Given the description of an element on the screen output the (x, y) to click on. 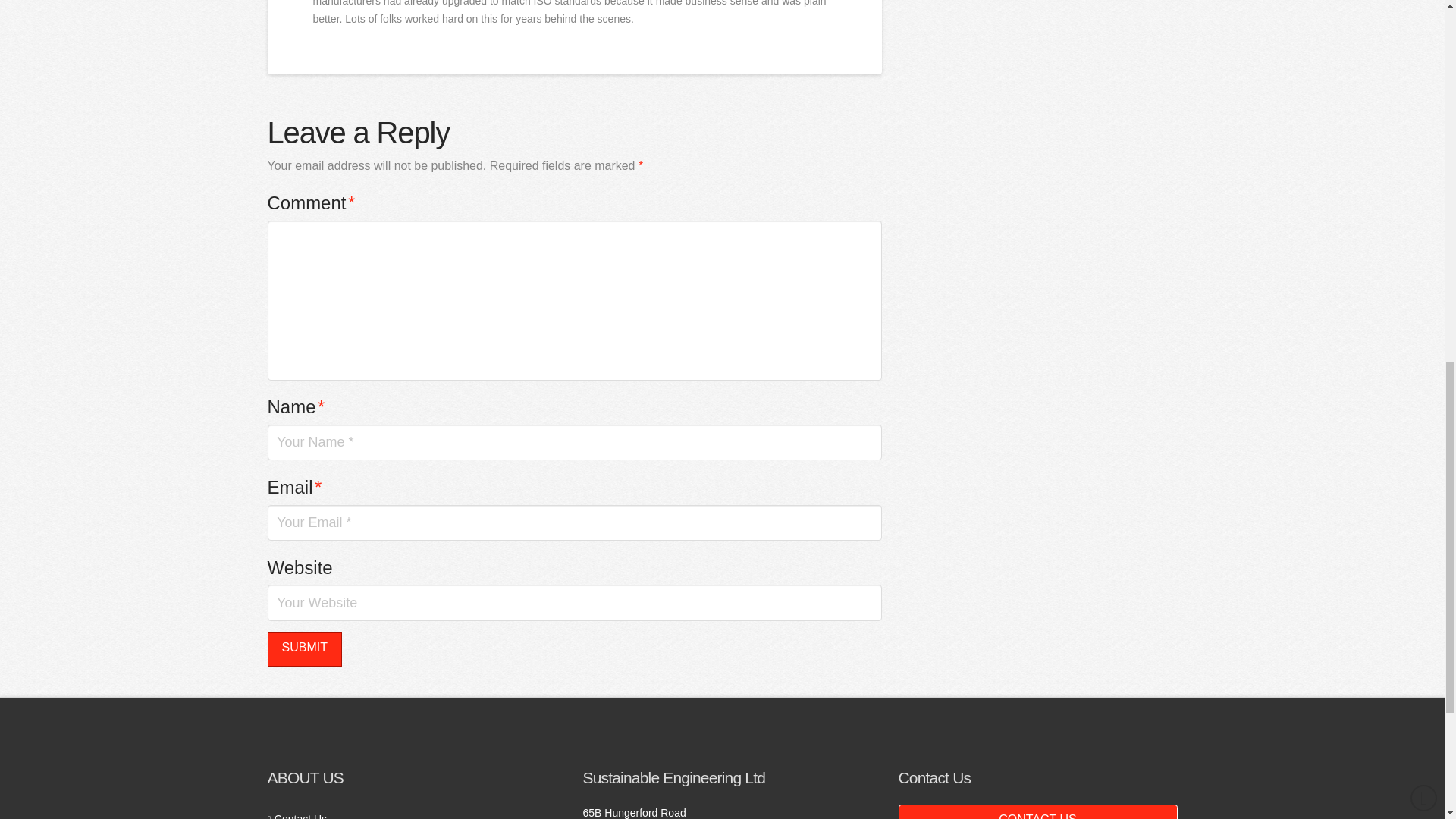
Submit (303, 649)
